Given the description of an element on the screen output the (x, y) to click on. 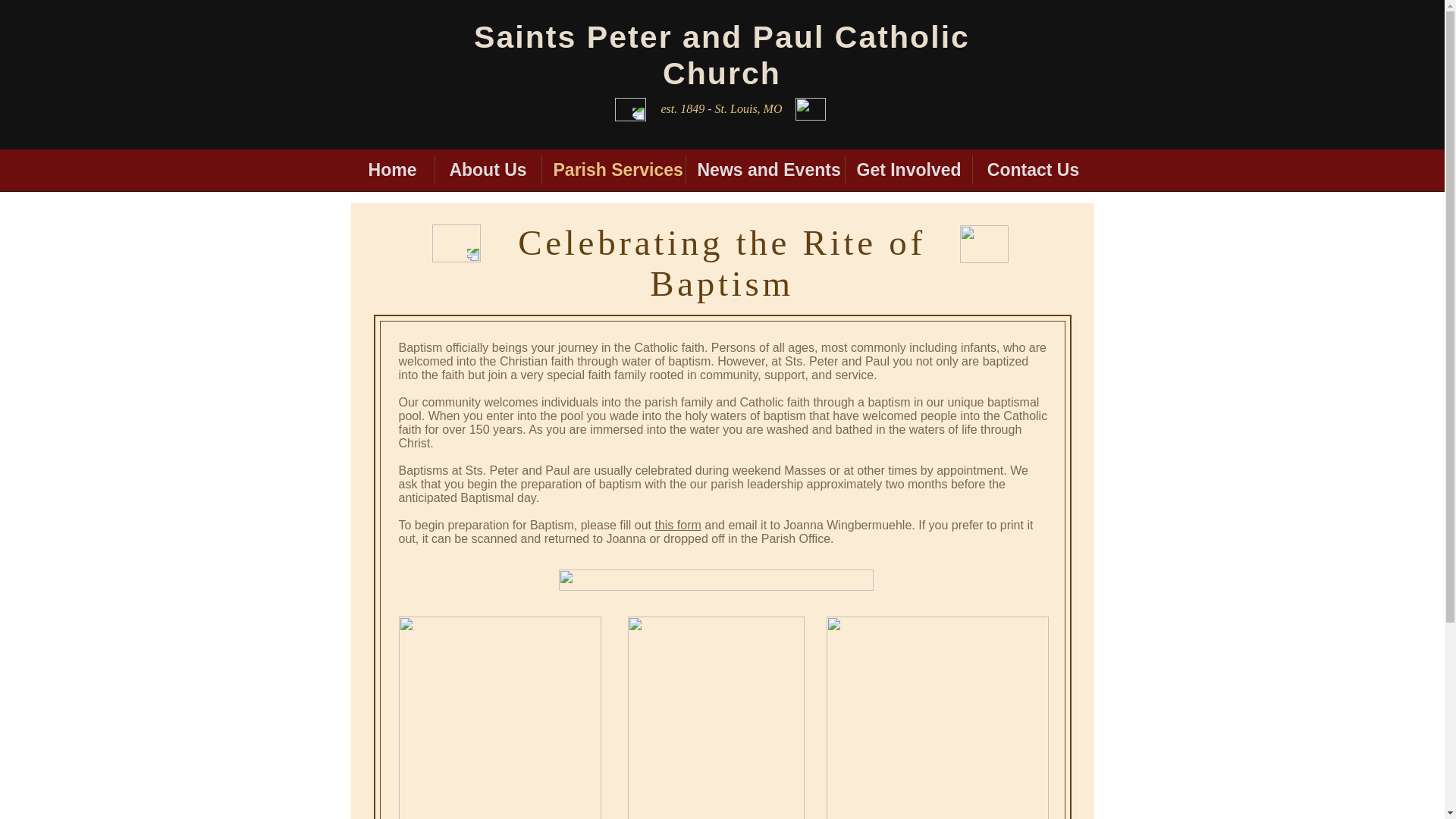
About Us (488, 169)
Saints Peter and Paul Catholic Church (721, 54)
Get Involved (907, 169)
Parish Services (612, 169)
Contact Us (1032, 169)
Home (391, 169)
News and Events (764, 169)
this form (676, 524)
